Given the description of an element on the screen output the (x, y) to click on. 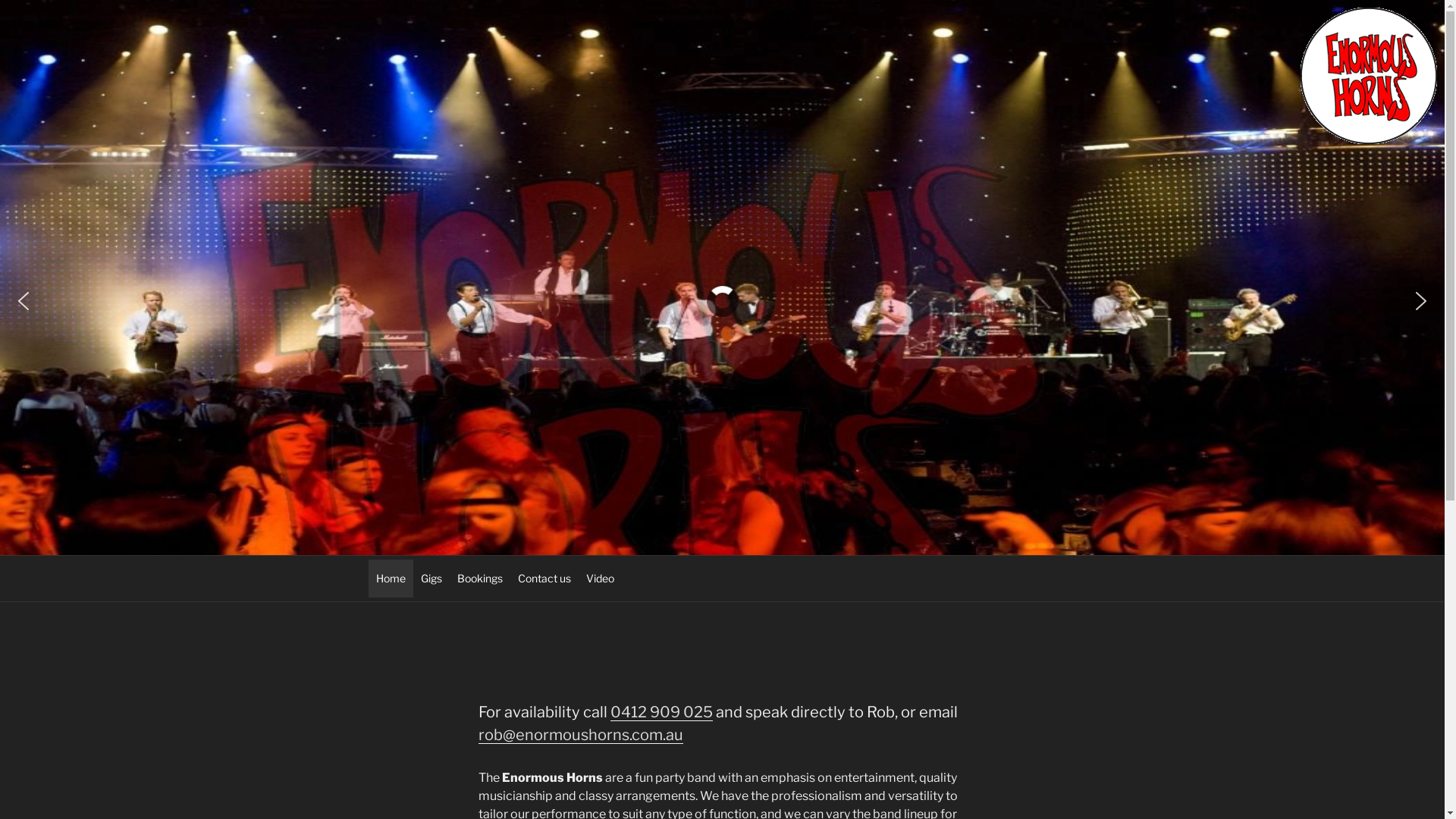
rob@enormoushorns.com.au Element type: text (579, 734)
Gigs Element type: text (430, 578)
Video Element type: text (599, 578)
0412 909 025 Element type: text (660, 711)
Contact us Element type: text (543, 578)
Bookings Element type: text (478, 578)
Home Element type: text (390, 578)
